Given the description of an element on the screen output the (x, y) to click on. 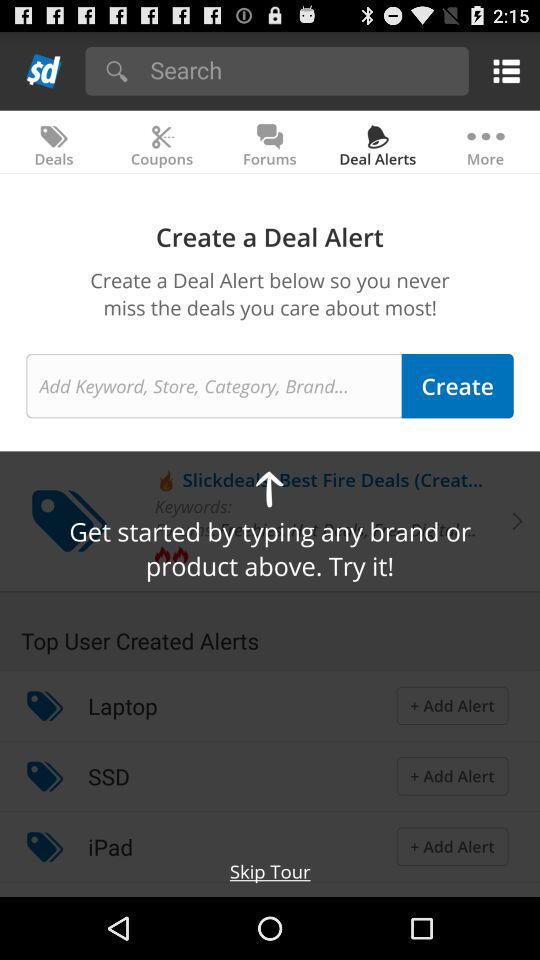
home (44, 70)
